Given the description of an element on the screen output the (x, y) to click on. 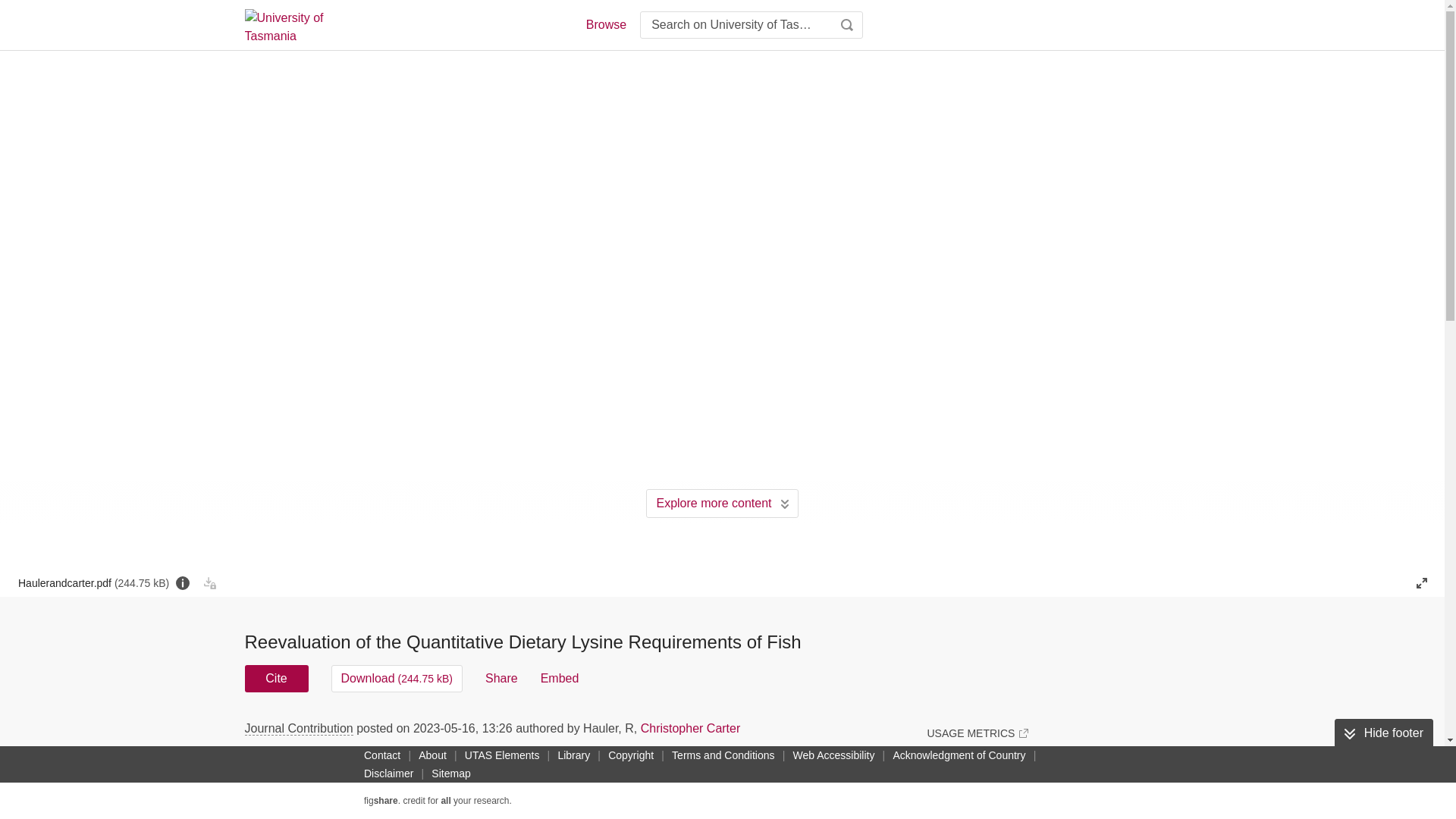
Cite (275, 678)
About (432, 755)
Contact (381, 755)
Christopher Carter (690, 727)
Explore more content (721, 502)
Disclaimer (388, 773)
Sitemap (450, 773)
Browse (605, 24)
Embed (559, 678)
